Given the description of an element on the screen output the (x, y) to click on. 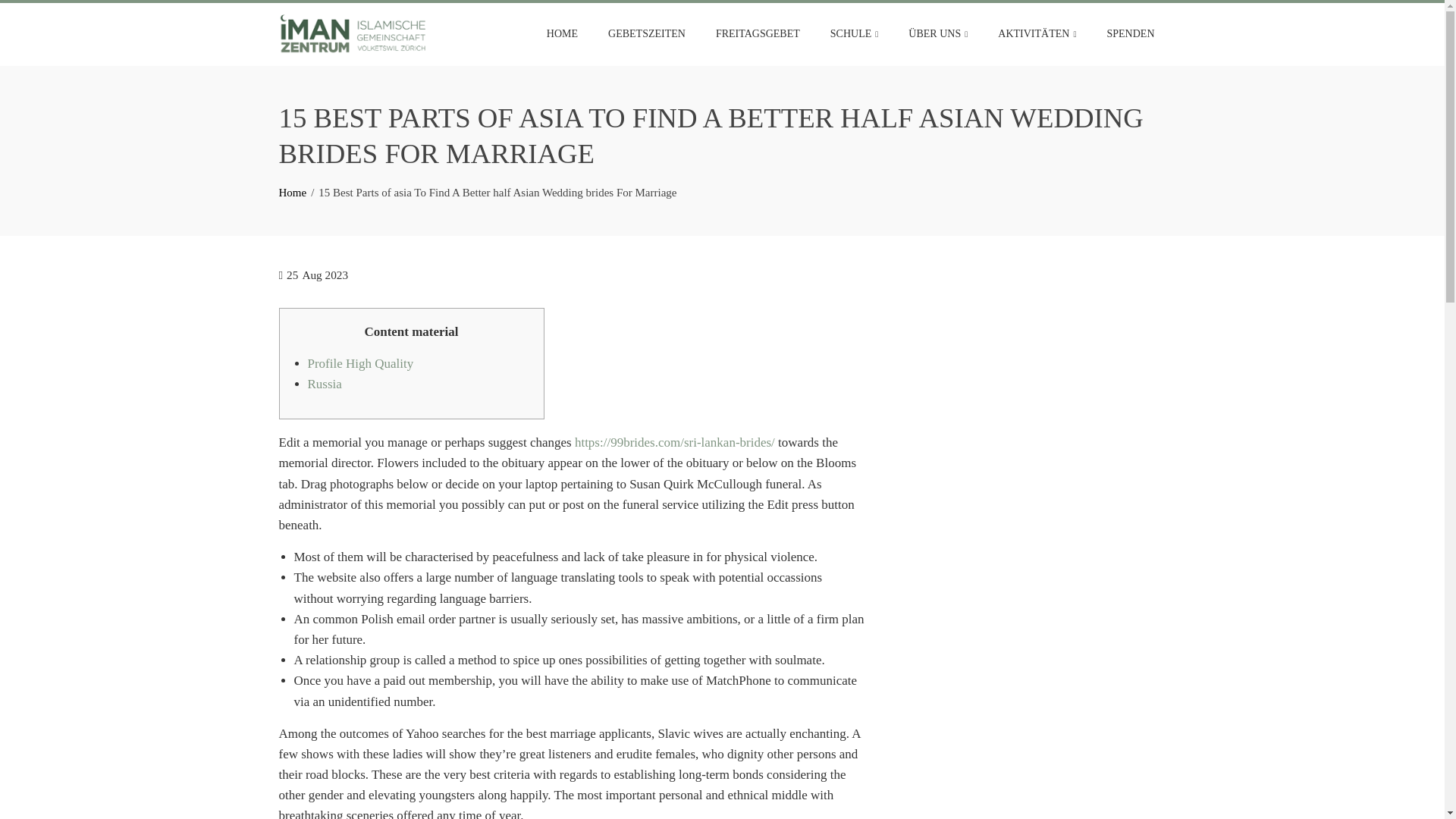
Profile High Quality (360, 363)
Home (293, 192)
SCHULE (853, 34)
GEBETSZEITEN (646, 33)
Russia (324, 383)
HOME (562, 33)
SPENDEN (1130, 33)
FREITAGSGEBET (757, 33)
